Given the description of an element on the screen output the (x, y) to click on. 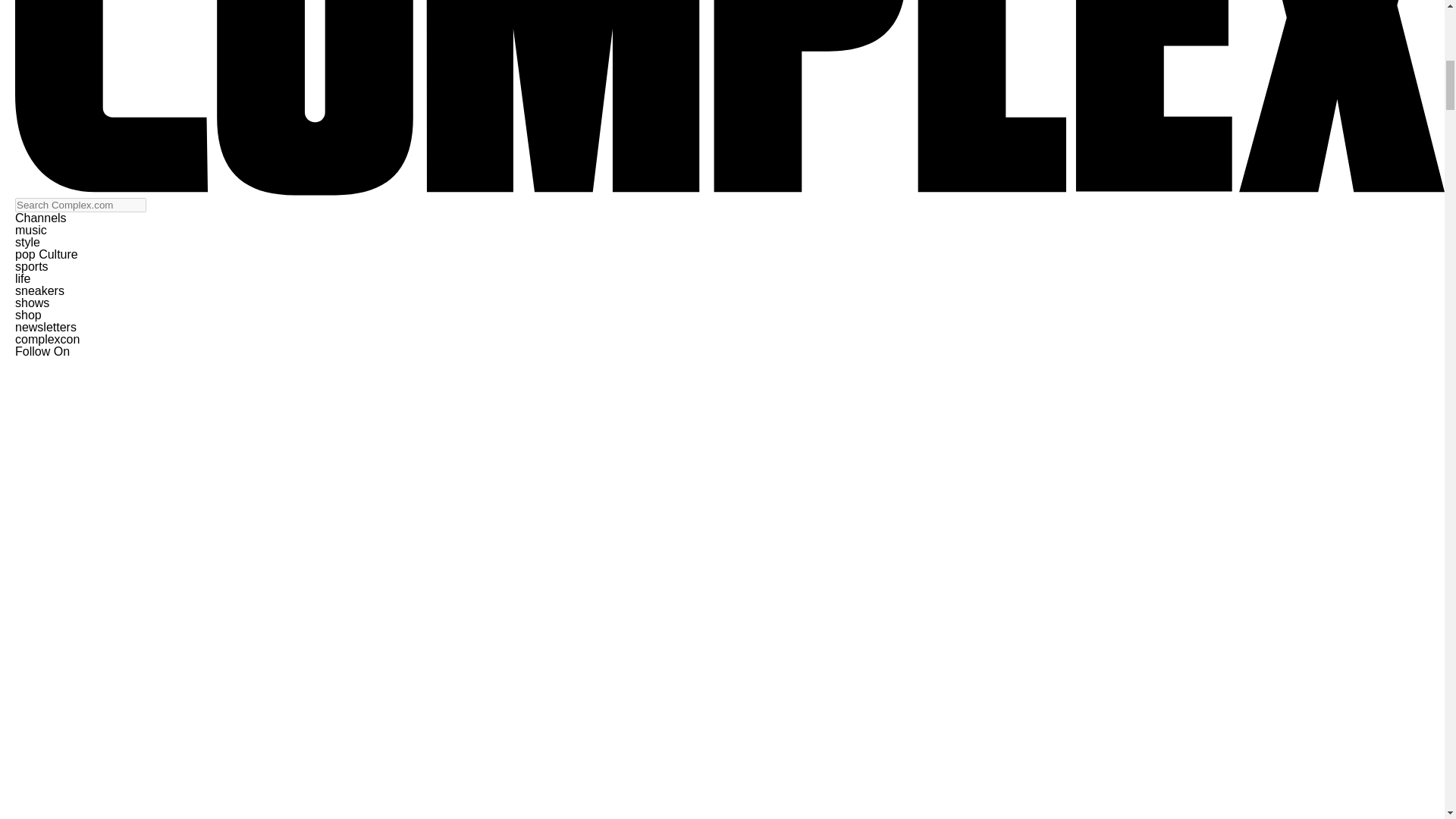
shows (31, 302)
pop Culture (46, 254)
music (30, 229)
sneakers (39, 290)
complexcon (47, 338)
newsletters (45, 327)
sports (31, 266)
life (22, 278)
style (27, 241)
shop (28, 314)
